Given the description of an element on the screen output the (x, y) to click on. 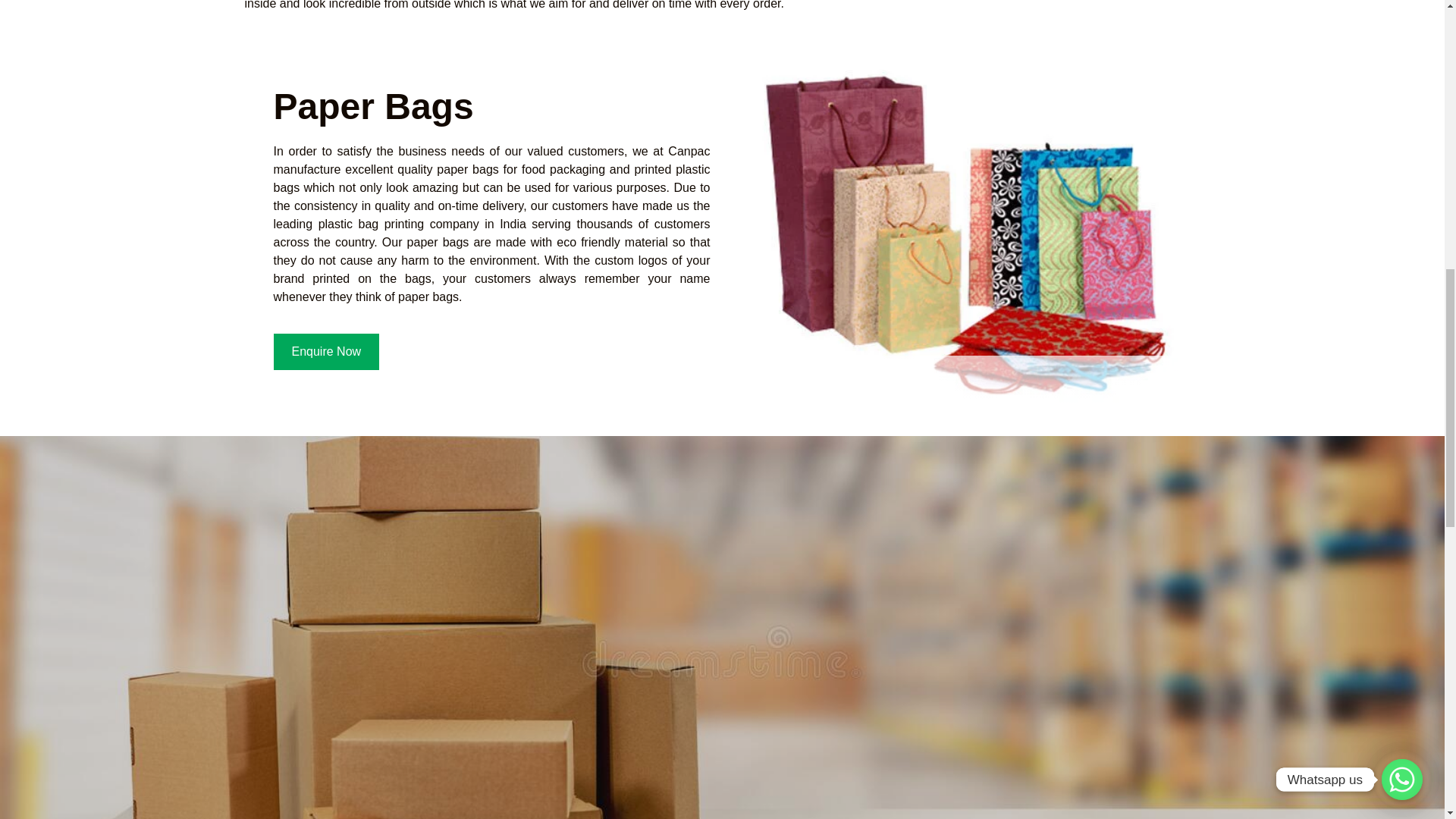
Enquire Now (325, 351)
